Given the description of an element on the screen output the (x, y) to click on. 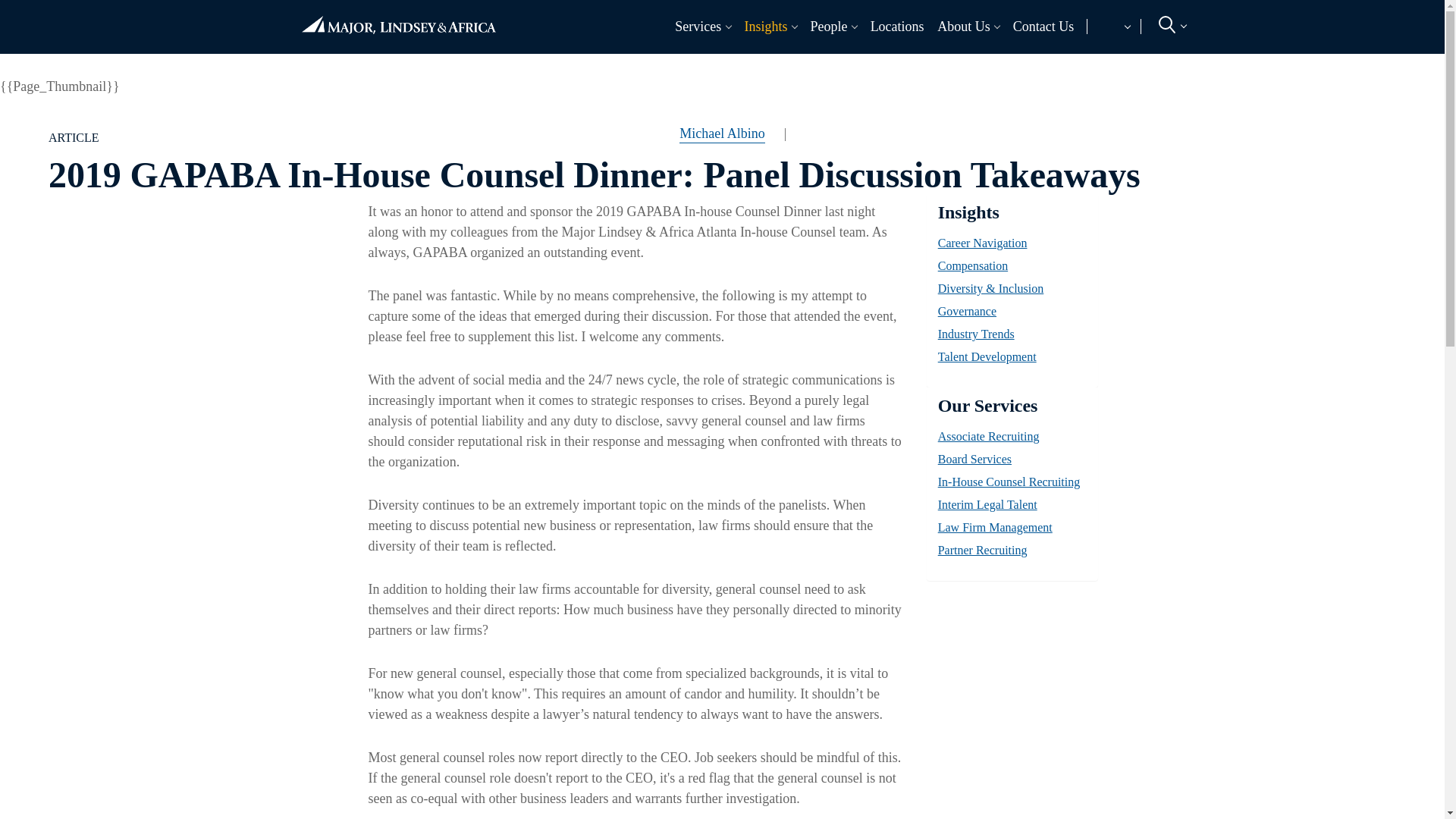
In-House Counsel Recruiting (1046, 60)
Insights (761, 26)
Locations (896, 26)
Associate Recruiting (397, 60)
About Us (960, 26)
Services (695, 26)
People (825, 26)
Home (397, 18)
Board Services (614, 60)
Contact Us (1043, 26)
